Given the description of an element on the screen output the (x, y) to click on. 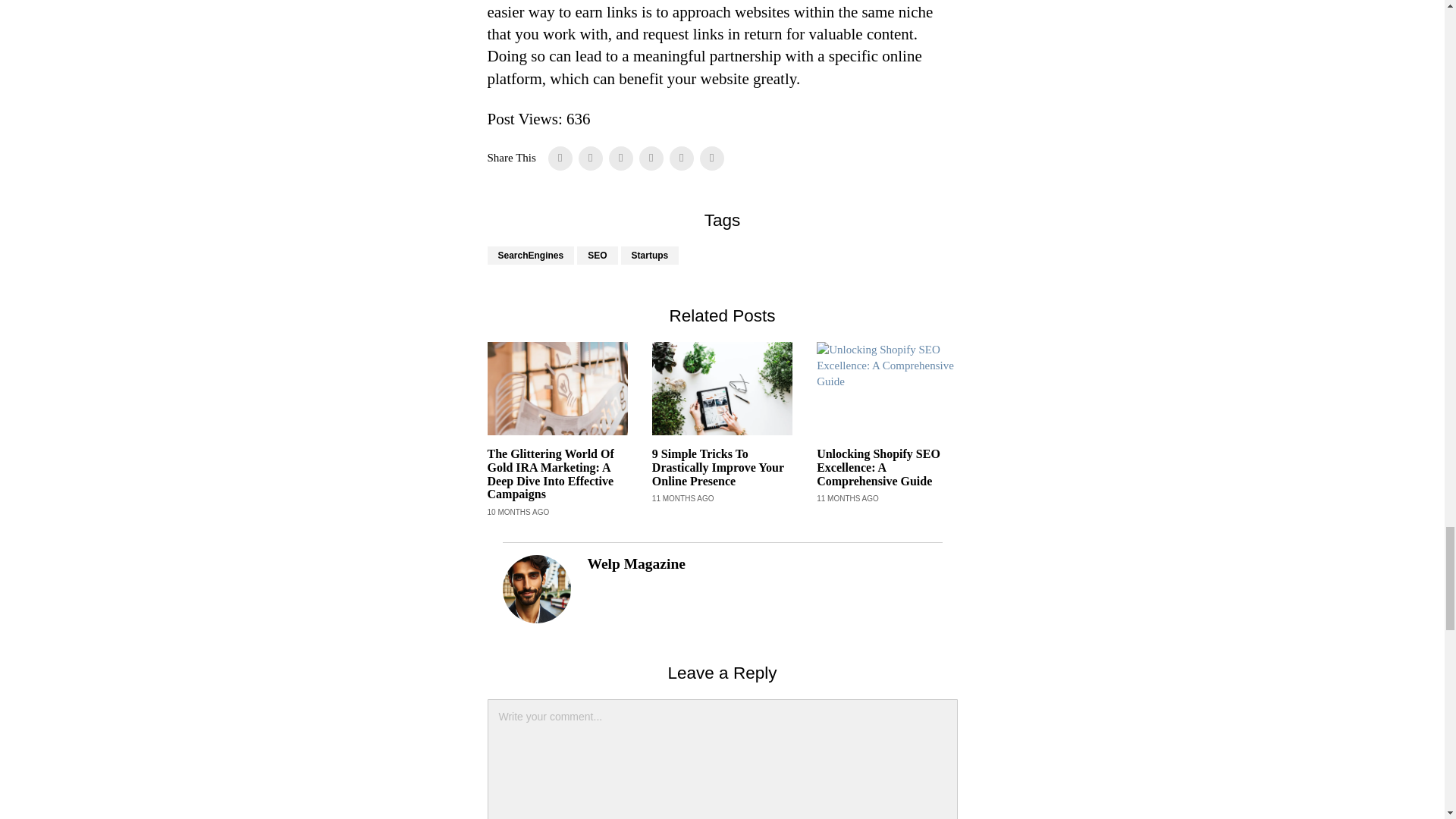
12 Sep, 2023 12:27:26 (847, 498)
12 Oct, 2023 11:18:15 (517, 511)
13 Sep, 2023 11:45:41 (683, 498)
